Given the description of an element on the screen output the (x, y) to click on. 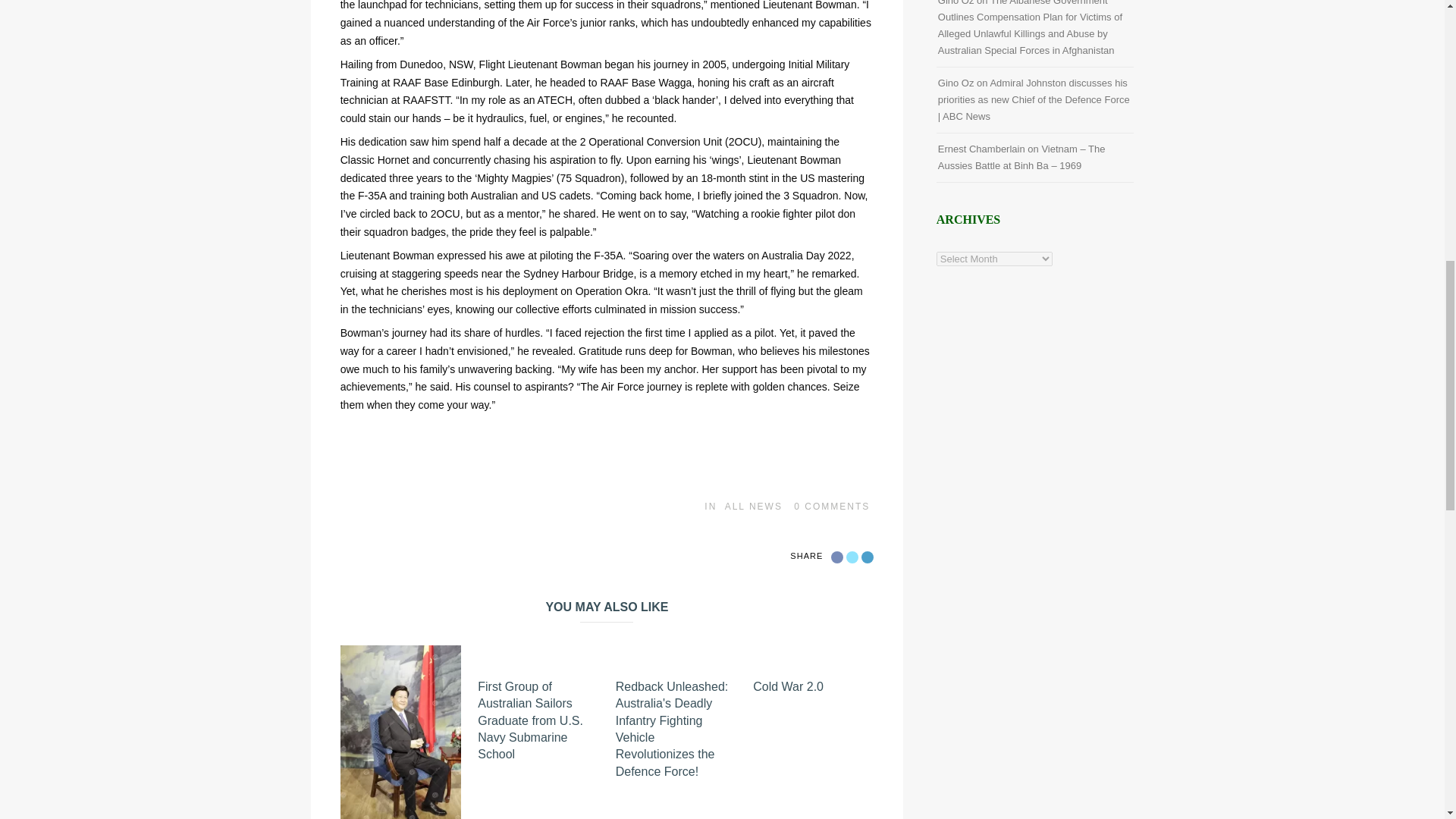
Facebook (837, 557)
Cold War 2.0 (788, 686)
0 COMMENTS (831, 506)
LinkedIn (867, 557)
ALL NEWS (754, 506)
Twitter (852, 557)
